Given the description of an element on the screen output the (x, y) to click on. 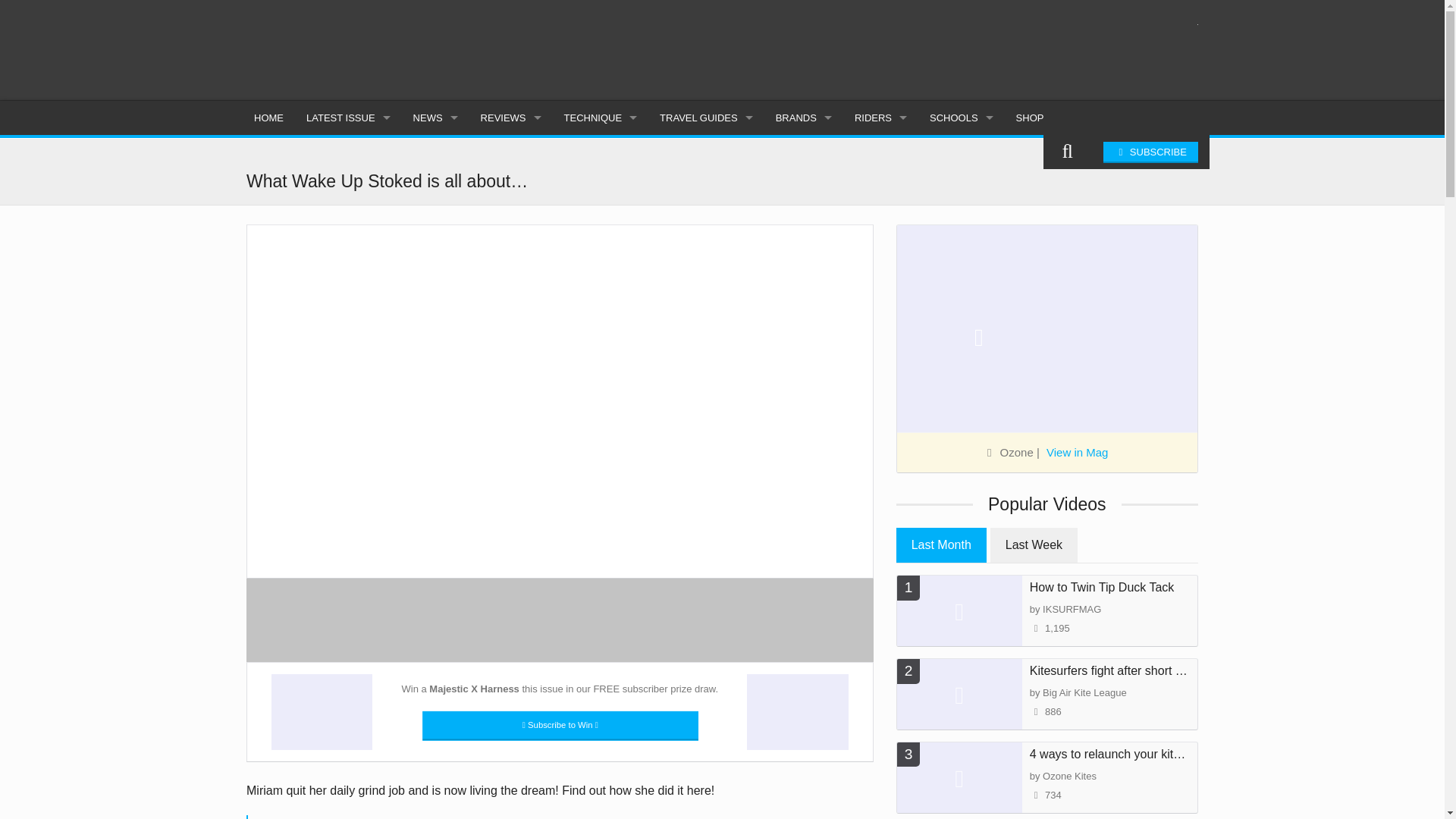
ADVANCED (601, 223)
LATEST (434, 154)
NEWS (434, 117)
LATEST ISSUE (348, 117)
REVIEWS (510, 117)
POPULAR (434, 223)
EVENTS (434, 257)
READERS GALLERY (434, 325)
ISSUE 105 (348, 154)
INTERMEDIATE (601, 188)
DRYSUITS (510, 325)
WETSUITS (510, 291)
ARTICLES (348, 188)
FEATURES (434, 188)
